Given the description of an element on the screen output the (x, y) to click on. 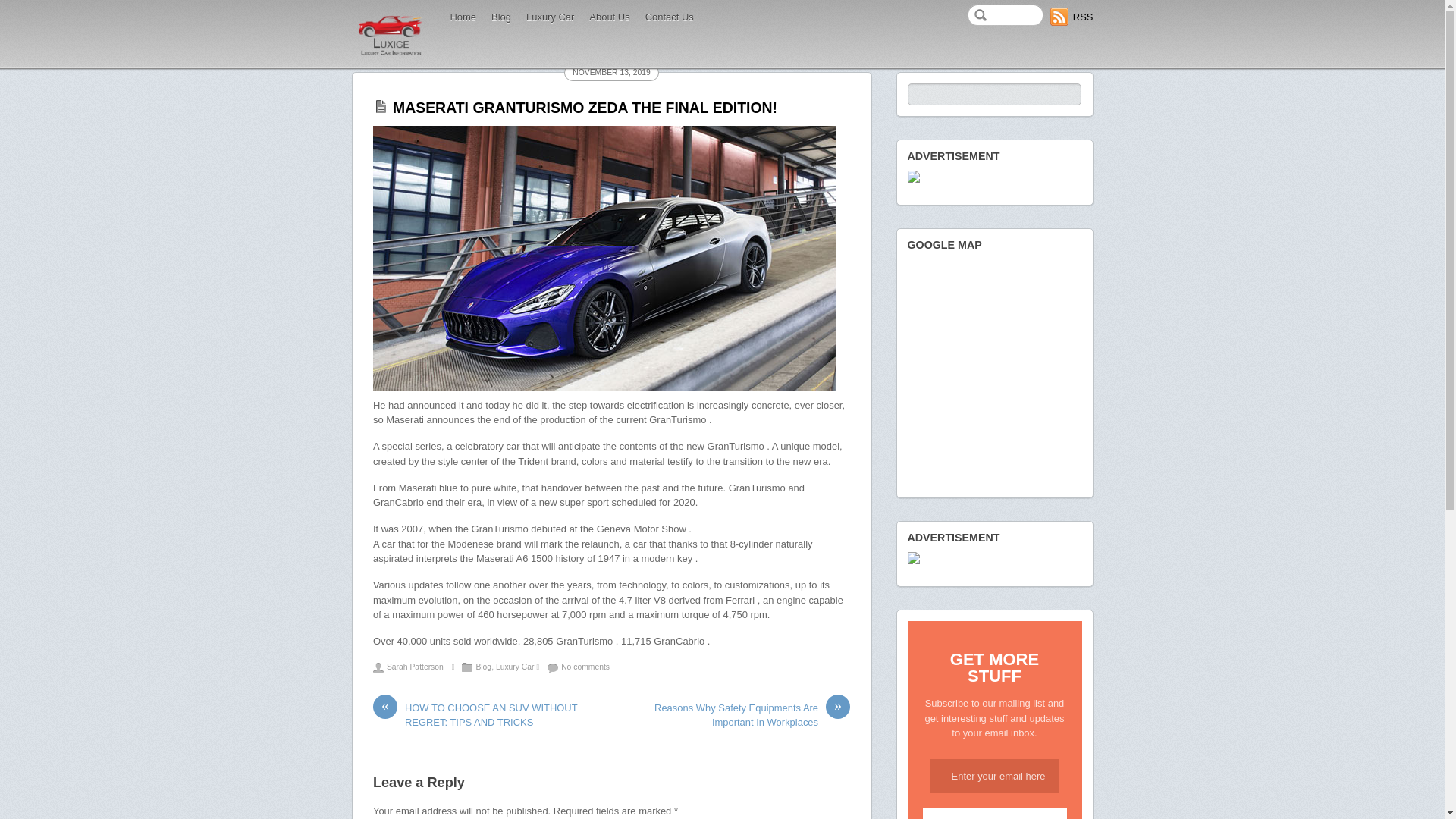
Search Element type: hover (1005, 14)
RSS Element type: text (1071, 16)
Contact Us Element type: text (669, 17)
Home Element type: text (463, 17)
Sarah Patterson Element type: text (414, 666)
About Us Element type: text (609, 17)
Blog Element type: text (483, 666)
Blog Element type: text (500, 17)
Search Element type: hover (993, 94)
MASERATI GRANTURISMO ZEDA THE FINAL EDITION! Element type: text (584, 107)
Luxury Car Element type: text (549, 17)
Luxige Element type: hover (389, 54)
Luxury Car Element type: text (514, 666)
Luxige Element type: hover (389, 33)
No comments Element type: text (585, 666)
